Given the description of an element on the screen output the (x, y) to click on. 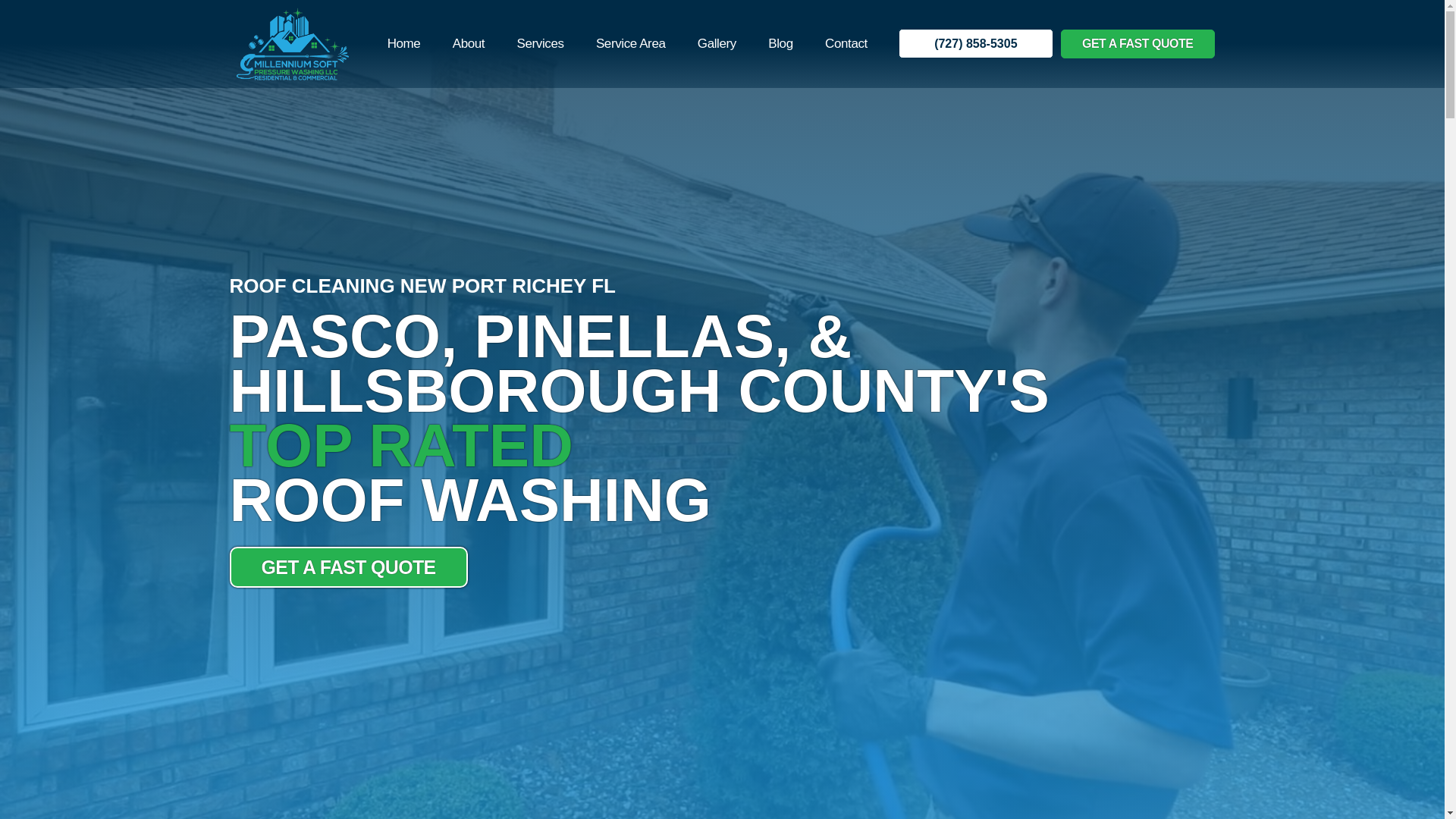
Service Area (630, 42)
Services (539, 42)
Contact (846, 42)
GET A FAST QUOTE (1137, 43)
Home (403, 42)
Blog (780, 42)
Gallery (716, 42)
About (468, 42)
